Given the description of an element on the screen output the (x, y) to click on. 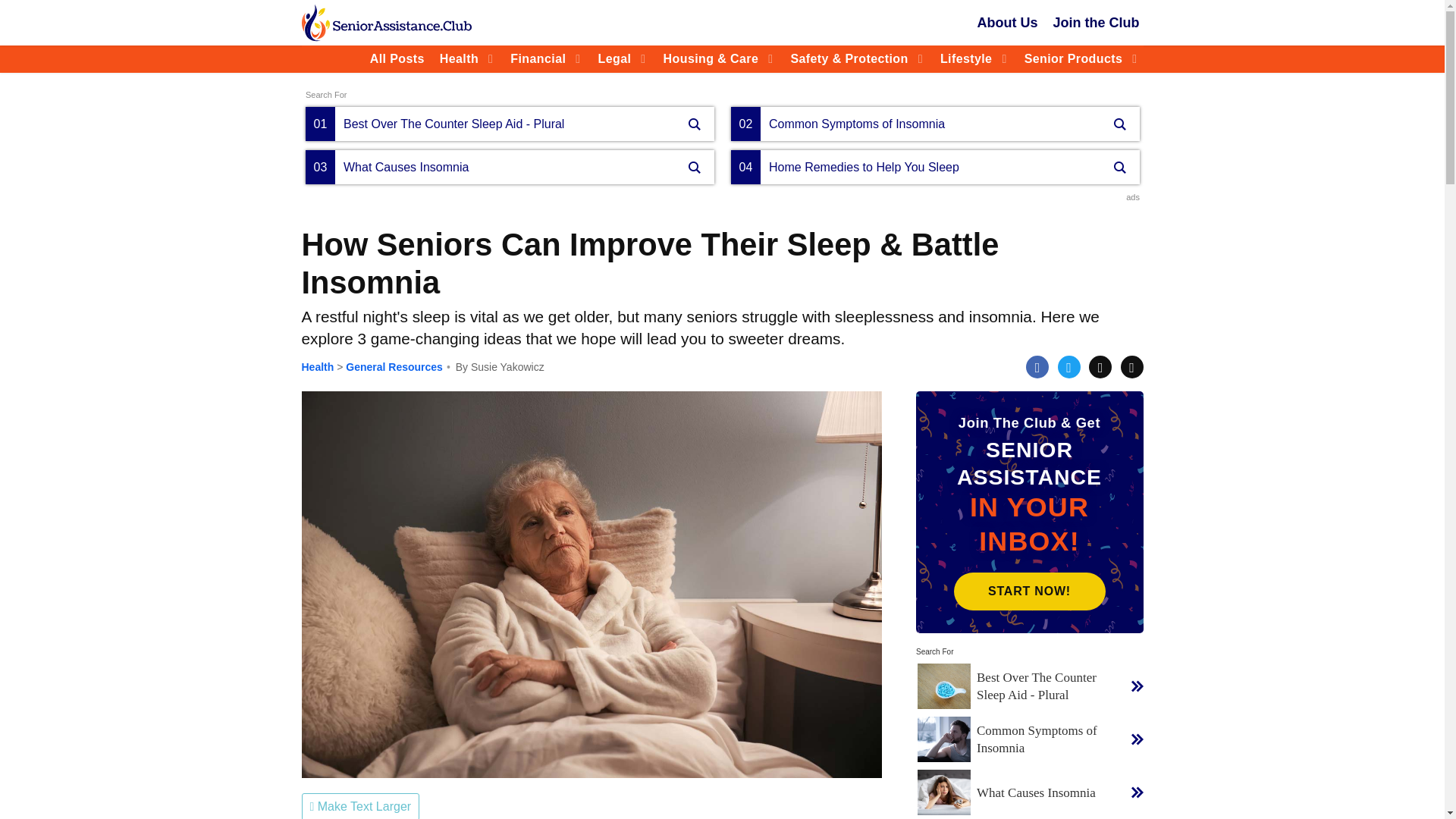
About Us (1008, 22)
Legal (614, 58)
Financial (537, 58)
Lifestyle (965, 58)
All Posts (397, 58)
Join the Club (1095, 22)
Health (458, 58)
